Given the description of an element on the screen output the (x, y) to click on. 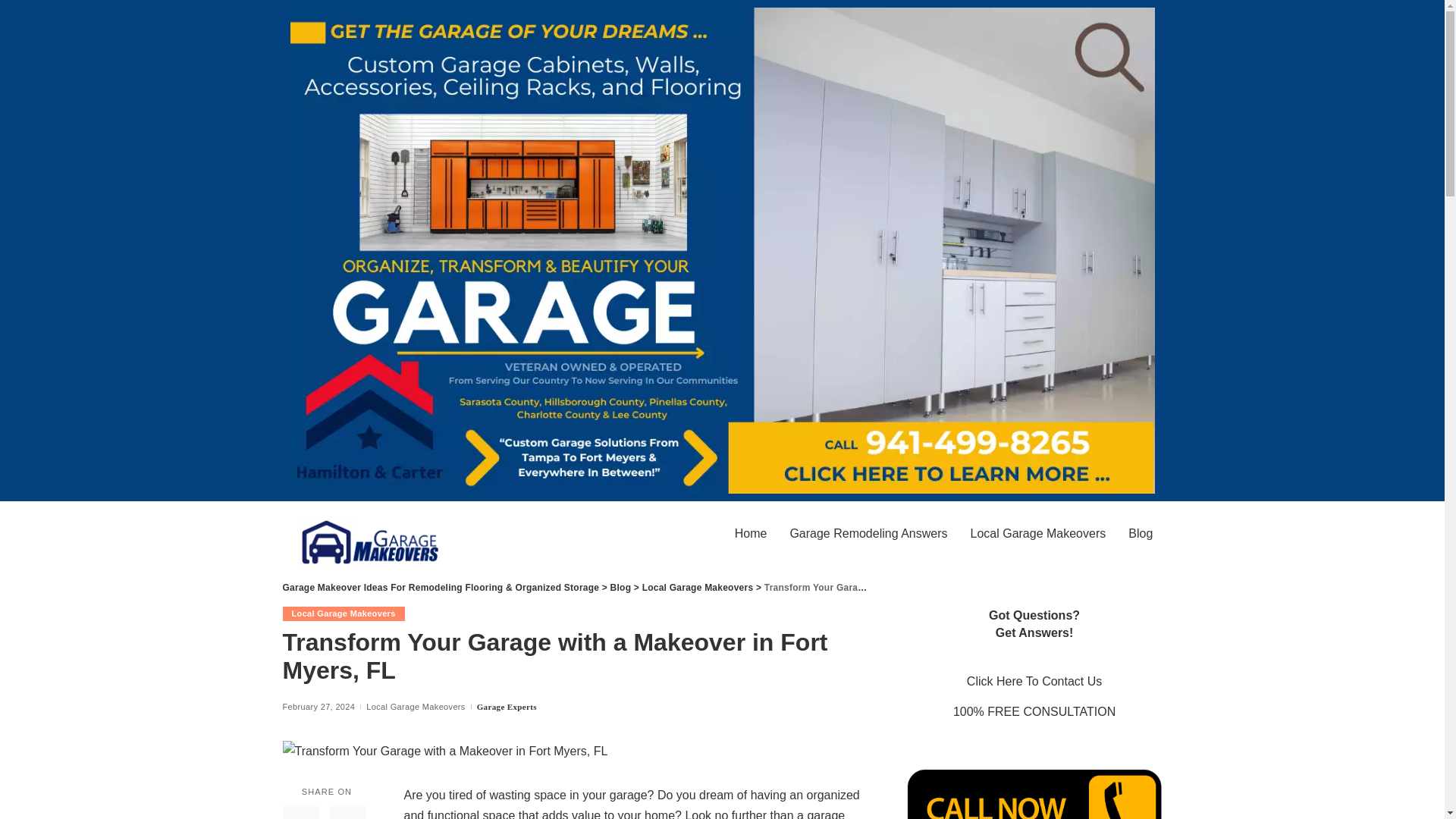
Garage Experts (507, 707)
Local Garage Makeovers (1037, 533)
Home (750, 533)
Garage Remodeling Answers (867, 533)
Blog (620, 587)
Local Garage Makeovers (698, 587)
Go to the Local Garage Makeovers Category archives. (698, 587)
Twitter (347, 812)
Local Garage Makeovers (343, 613)
Blog (1139, 533)
Local Garage Makeovers (415, 707)
Facebook (300, 812)
Go to Blog. (620, 587)
2024-02-27T08:29:41-05:00 (318, 707)
